Given the description of an element on the screen output the (x, y) to click on. 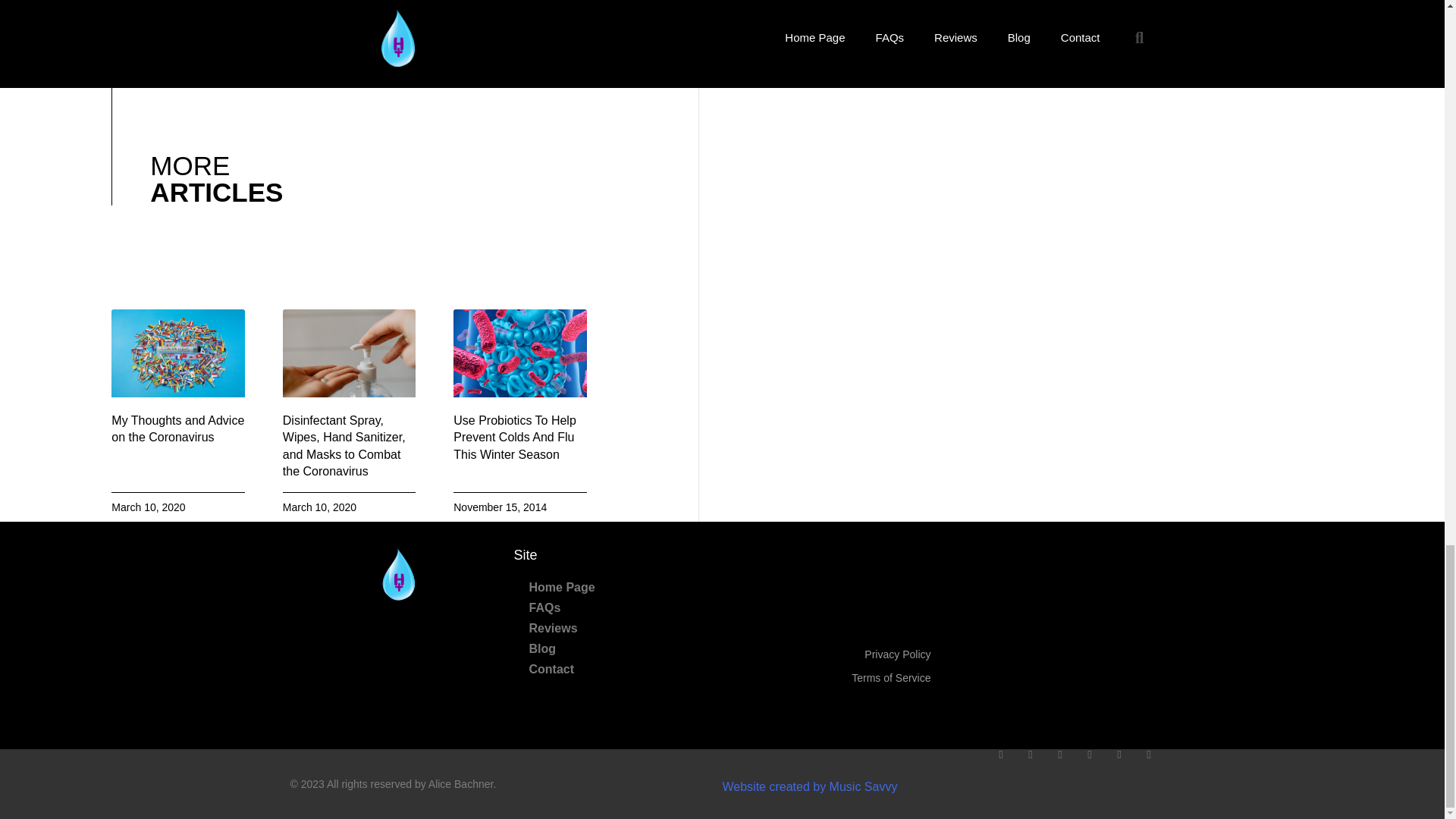
Reviews (613, 628)
FAQs (613, 607)
Blog (613, 648)
My Thoughts and Advice on the Coronavirus (178, 428)
Contact (613, 669)
Home Page (613, 587)
